Given the description of an element on the screen output the (x, y) to click on. 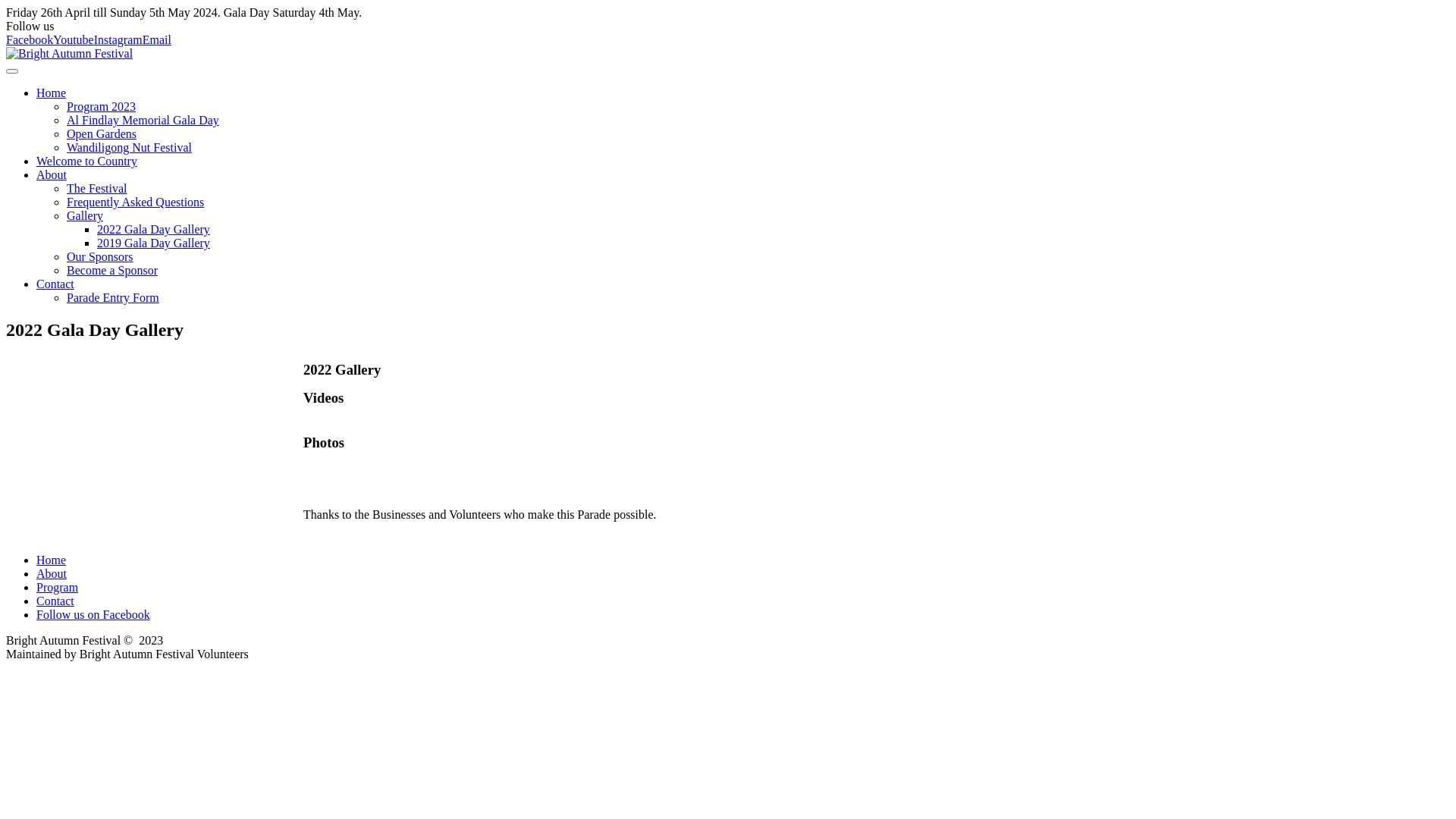
Frequently Asked Questions Element type: text (134, 201)
Al Findlay Memorial Gala Day Element type: text (142, 119)
Home Element type: text (50, 559)
2019 Gala Day Gallery Element type: text (153, 242)
About Element type: text (51, 174)
Program Element type: text (57, 586)
Follow us on Facebook Element type: text (93, 614)
2022 Gala Day Gallery Element type: text (153, 228)
Youtube Element type: text (73, 39)
Gallery Element type: text (84, 215)
Our Sponsors Element type: text (99, 256)
Instagram Element type: text (118, 39)
Home Element type: text (50, 92)
Facebook Element type: text (29, 39)
Become a Sponsor Element type: text (111, 269)
Maintained by Bright Autumn Festival Volunteers Element type: text (127, 653)
Contact Element type: text (55, 283)
The Festival Element type: text (96, 188)
Wandiligong Nut Festival Element type: text (128, 147)
Open Gardens Element type: text (101, 133)
Parade Entry Form Element type: text (112, 297)
Email Element type: text (156, 39)
Program 2023 Element type: text (100, 106)
Welcome to Country Element type: text (86, 160)
About Element type: text (51, 573)
Contact Element type: text (55, 600)
